Given the description of an element on the screen output the (x, y) to click on. 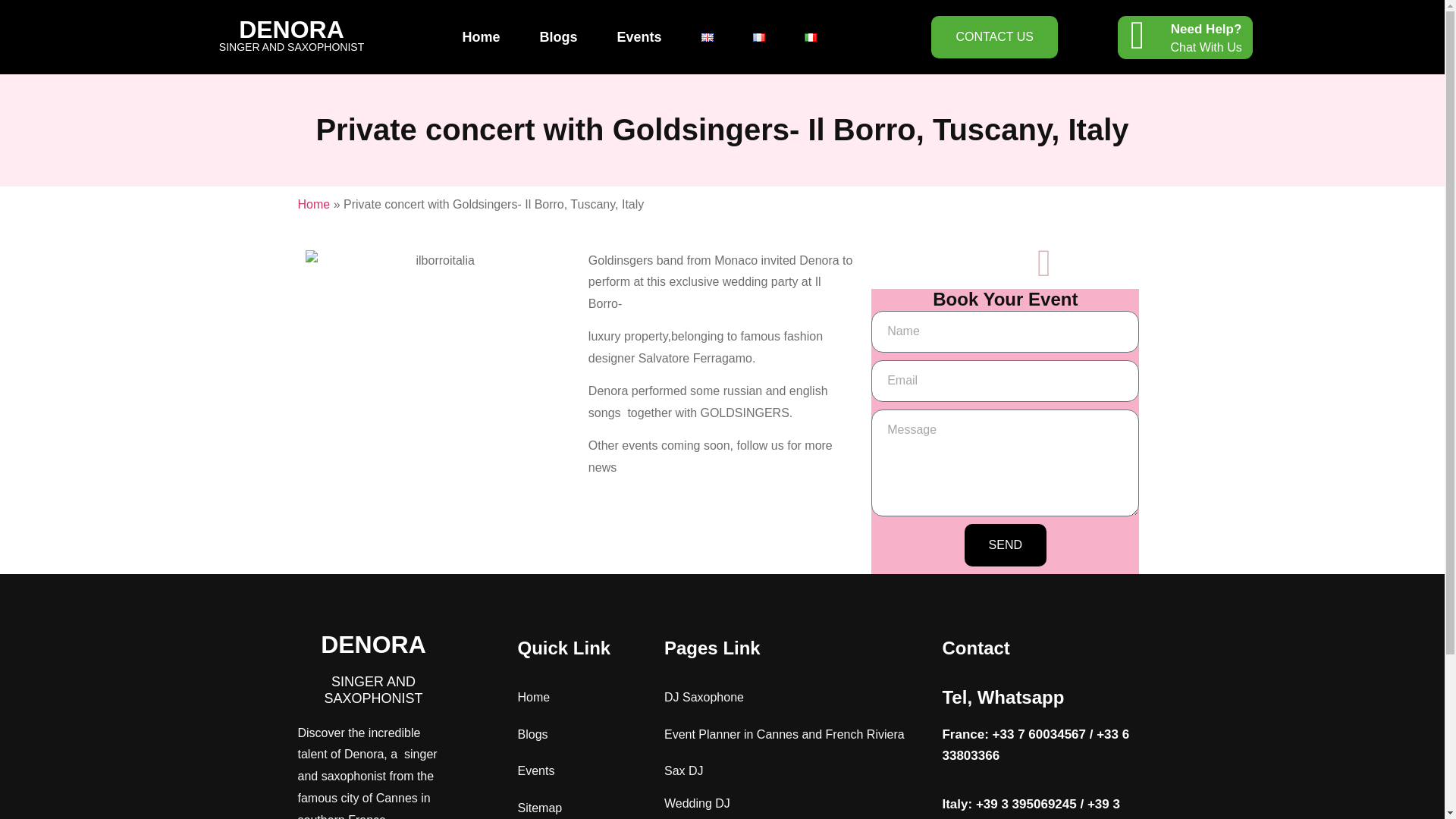
SEND (1004, 545)
Sax DJ (683, 770)
Wedding DJ (696, 802)
Home (313, 204)
Events (639, 36)
Blogs (558, 36)
Need Help? (1205, 29)
Sitemap (539, 807)
Blogs (531, 734)
Event Planner in Cannes and French Riviera (783, 734)
